Given the description of an element on the screen output the (x, y) to click on. 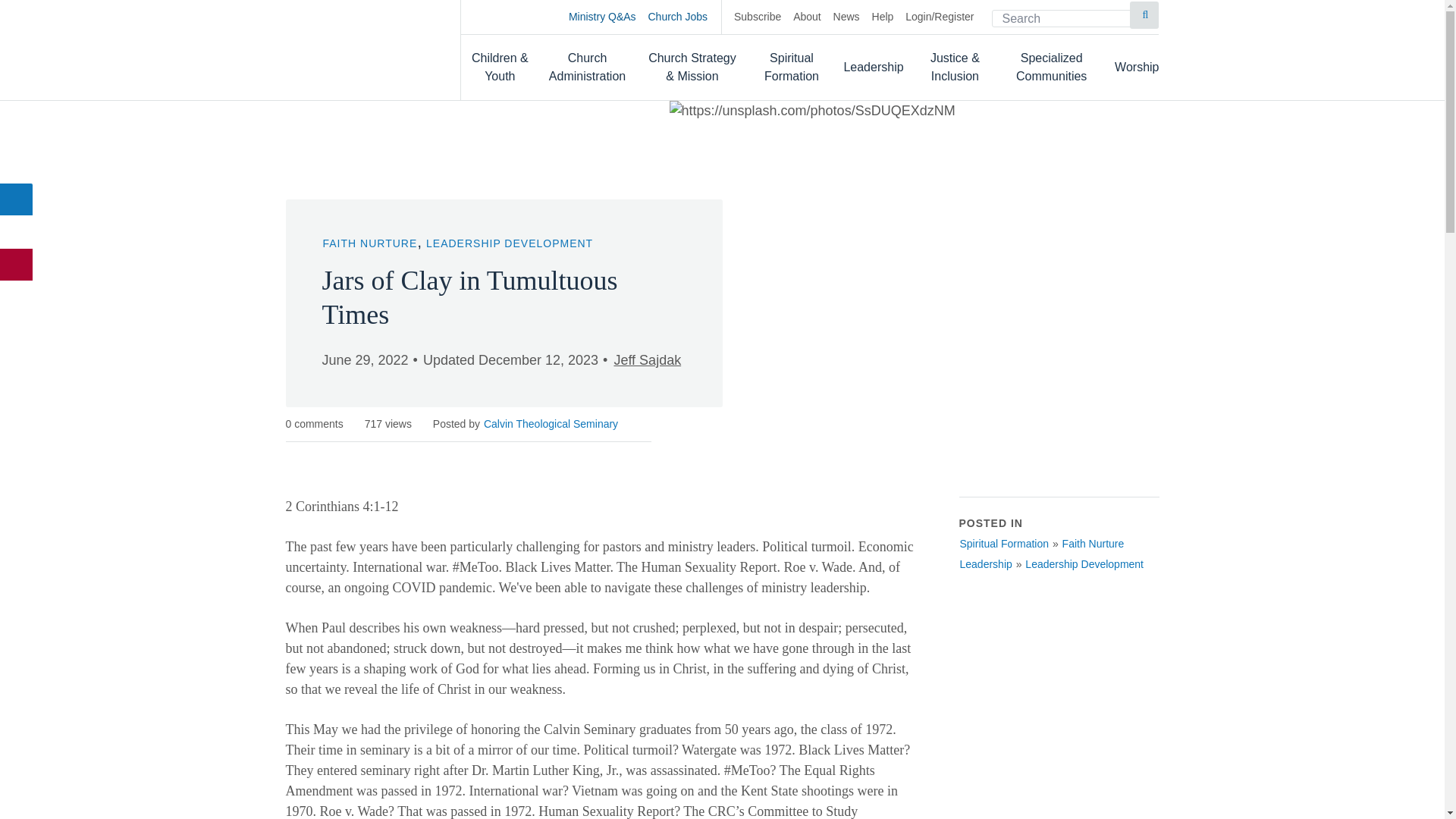
About (807, 17)
Leadership (984, 563)
Help (882, 17)
Share to Facebook (16, 199)
Specialized Communities (1051, 67)
Spiritual Formation (791, 67)
Share to Email (16, 264)
View user profile. (550, 423)
Church Administration (587, 67)
Calvin Theological Seminary (550, 423)
Submit (1143, 14)
Faith Nurture (1093, 543)
Worship (1136, 67)
Home (357, 49)
Jeff Sajdak (646, 360)
